Given the description of an element on the screen output the (x, y) to click on. 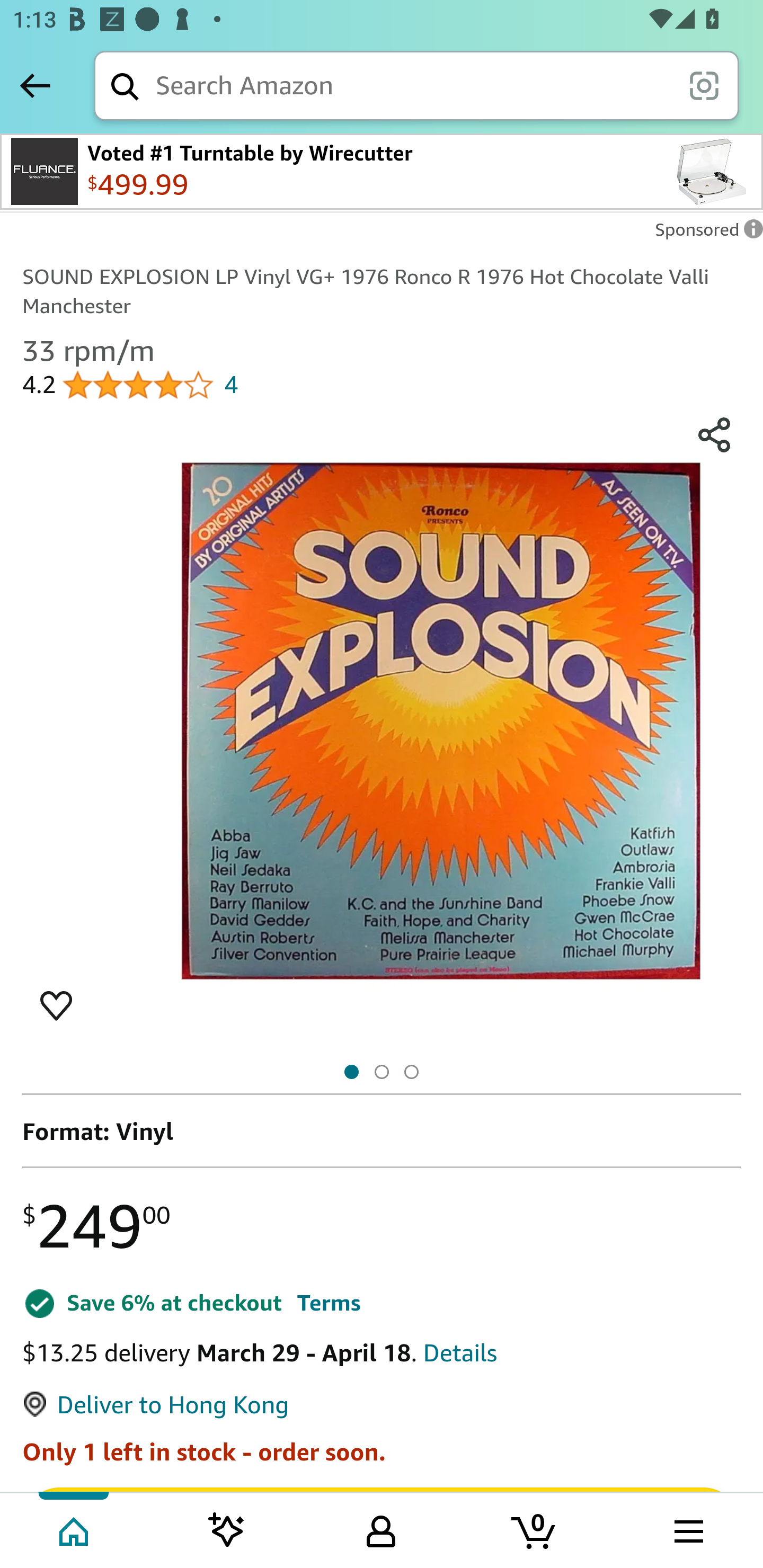
Back (35, 85)
Search Search Search Amazon scan it (416, 85)
scan it (704, 85)
Leave feedback on Sponsored ad Sponsored  (703, 234)
4.2 4.2 out of 5 stars4 4.2  4.2 out of 5 stars 4 (130, 381)
Heart to save an item to your default list (56, 1003)
Terms (328, 1302)
Details (459, 1352)
Deliver to Hong Kong (155, 1404)
Home Tab 1 of 5 (75, 1529)
Inspire feed Tab 2 of 5 (227, 1529)
Your Amazon.com Tab 3 of 5 (380, 1529)
Cart 0 item Tab 4 of 5 0 (534, 1529)
Browse menu Tab 5 of 5 (687, 1529)
